Given the description of an element on the screen output the (x, y) to click on. 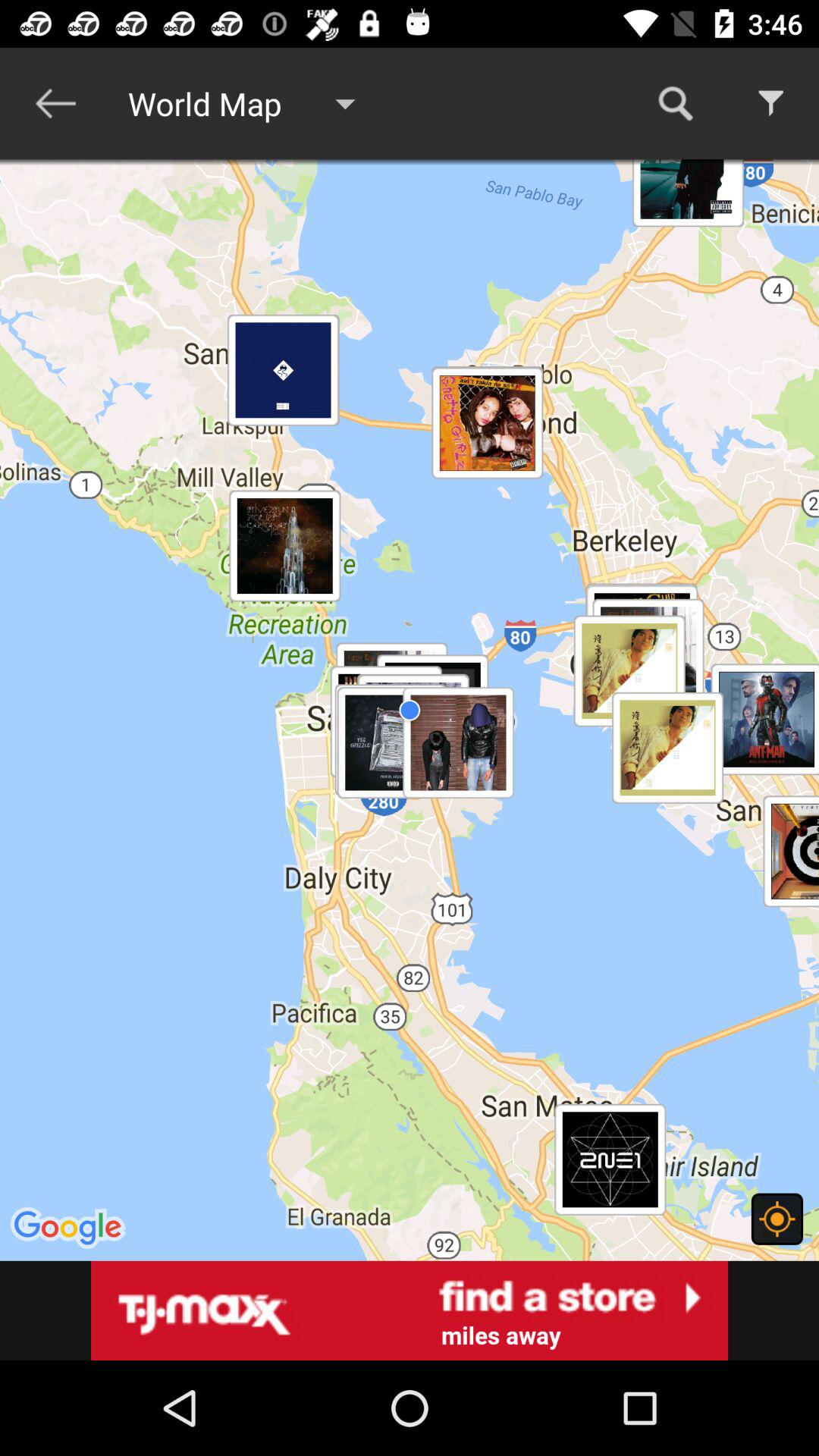
current location (777, 1218)
